Given the description of an element on the screen output the (x, y) to click on. 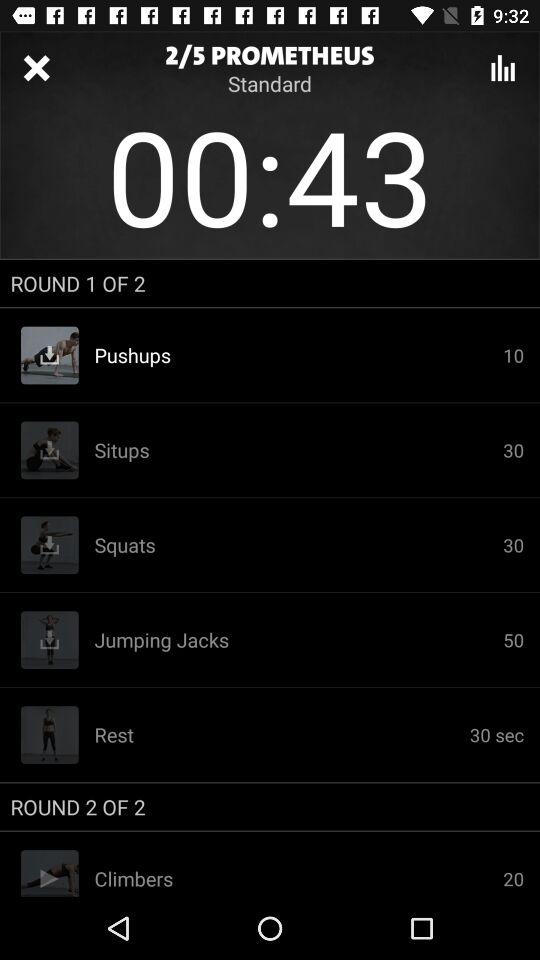
scroll until squats icon (298, 545)
